Given the description of an element on the screen output the (x, y) to click on. 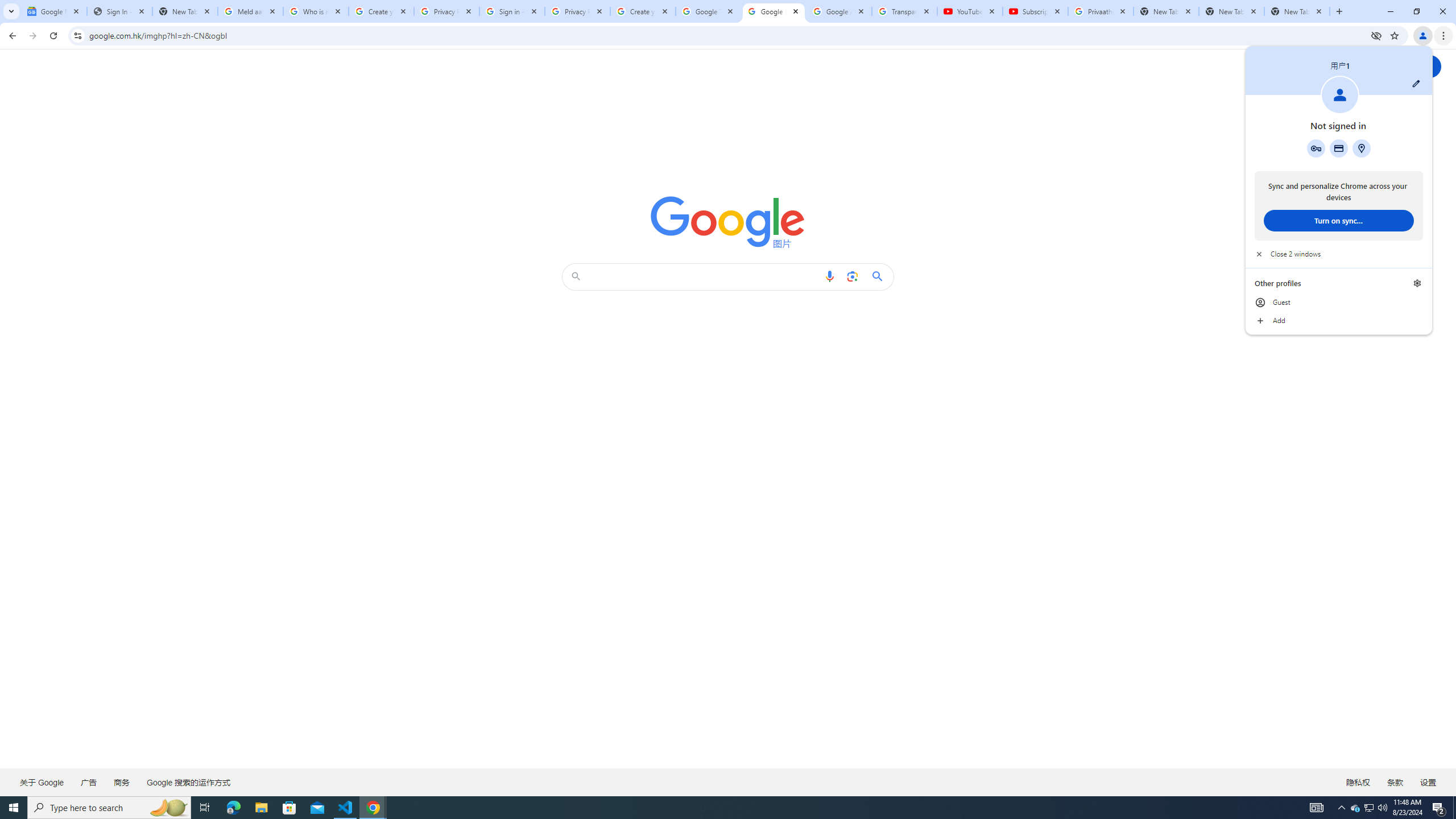
Google News (53, 11)
Microsoft Edge (233, 807)
Payment methods (1368, 807)
Show desktop (1338, 148)
Google Chrome - 2 running windows (1454, 807)
Google Password Manager (373, 807)
